Given the description of an element on the screen output the (x, y) to click on. 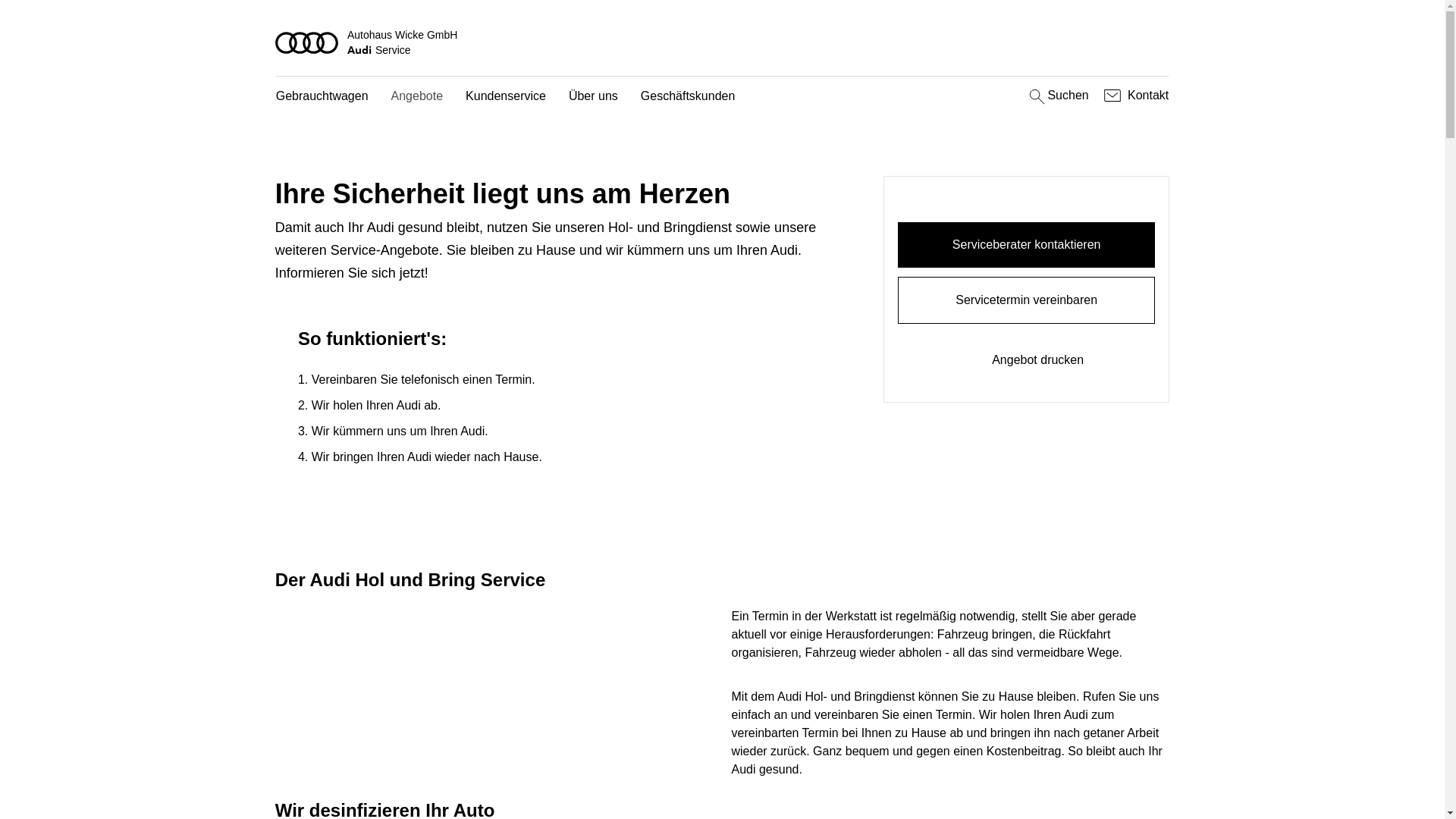
Gebrauchtwagen Element type: text (322, 96)
Servicetermin vereinbaren Element type: text (1025, 299)
Suchen Element type: text (1056, 95)
Autohaus Wicke GmbH
AudiService Element type: text (722, 42)
Angebot drucken Element type: text (1026, 360)
Kundenservice Element type: text (505, 96)
Kontakt Element type: text (1134, 95)
Angebote Element type: text (417, 96)
Serviceberater kontaktieren Element type: text (1025, 244)
